Given the description of an element on the screen output the (x, y) to click on. 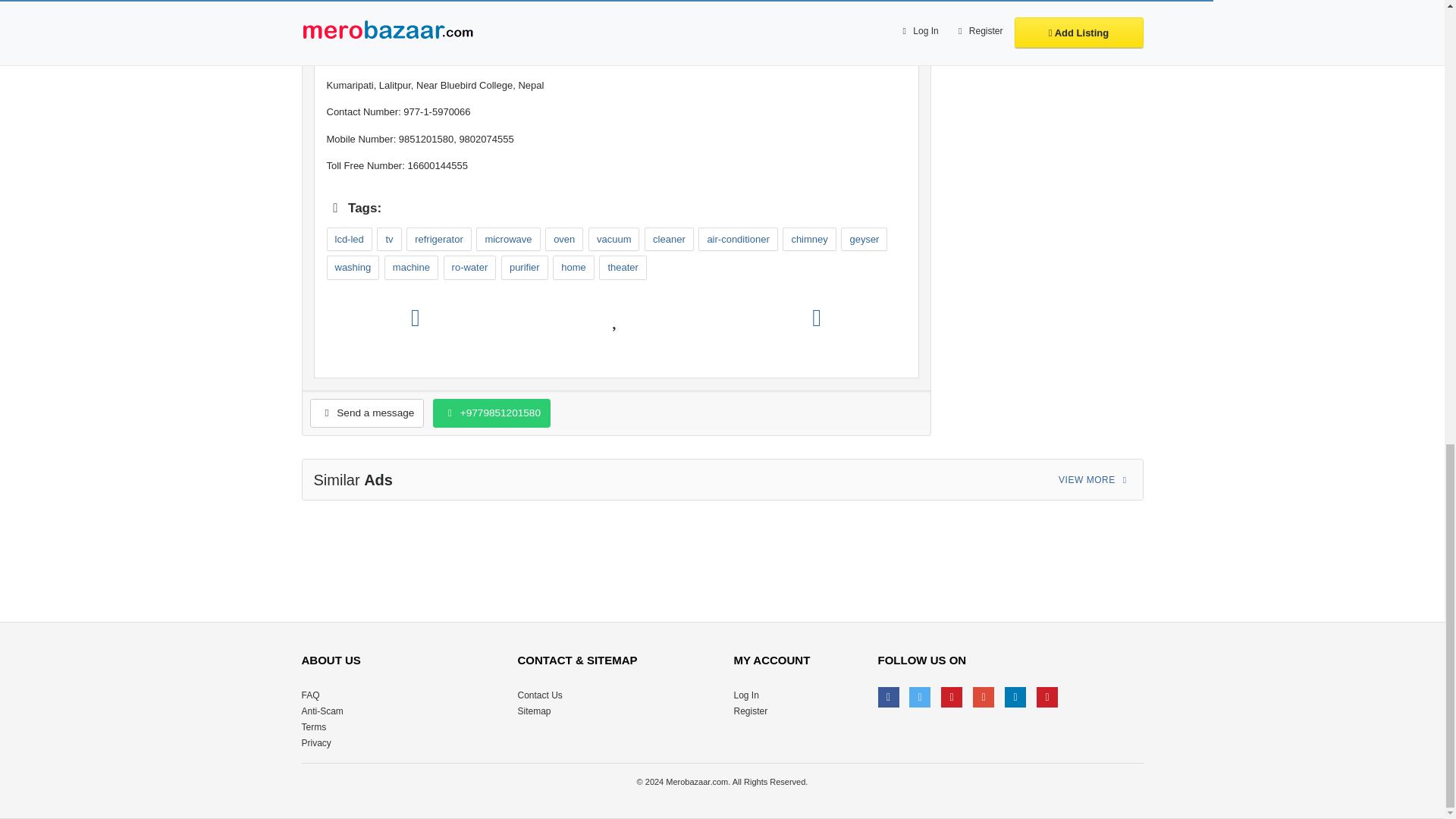
oven (563, 239)
microwave (508, 239)
Send a message (365, 412)
machine (411, 267)
purifier (524, 267)
washing (352, 267)
cleaner (669, 239)
theater (622, 267)
air-conditioner (737, 239)
refrigerator (438, 239)
